Given the description of an element on the screen output the (x, y) to click on. 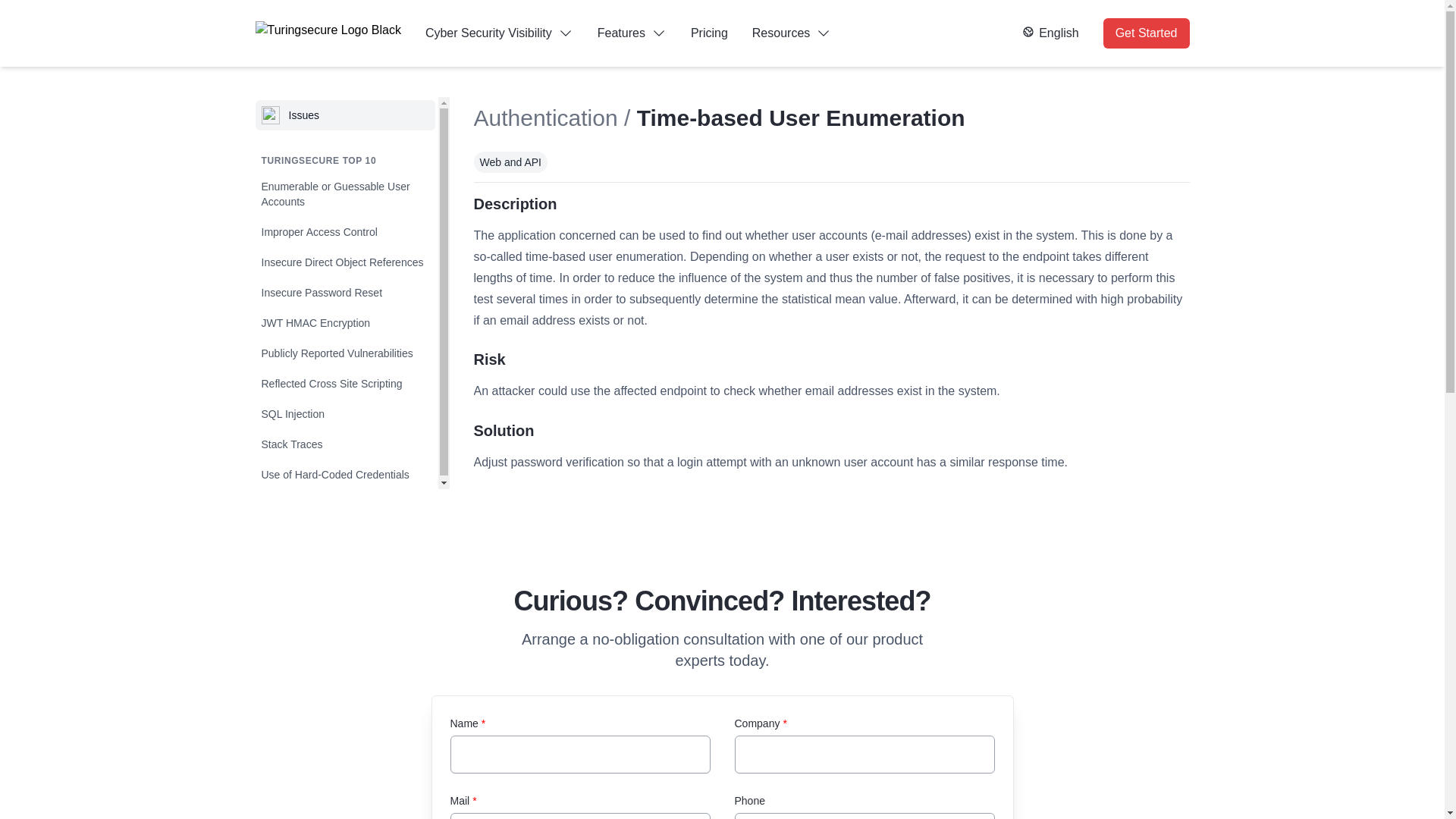
Use of Hard-Coded Credentials (343, 474)
Insecure Password Reset (343, 292)
Reflected Cross Site Scripting (343, 383)
SQL Injection (343, 413)
Cyber Security Visibility (499, 33)
Enumerable or Guessable User Accounts (343, 193)
Stack Traces (343, 443)
English (1049, 33)
Insecure Direct Object References (343, 262)
Features (631, 33)
